Given the description of an element on the screen output the (x, y) to click on. 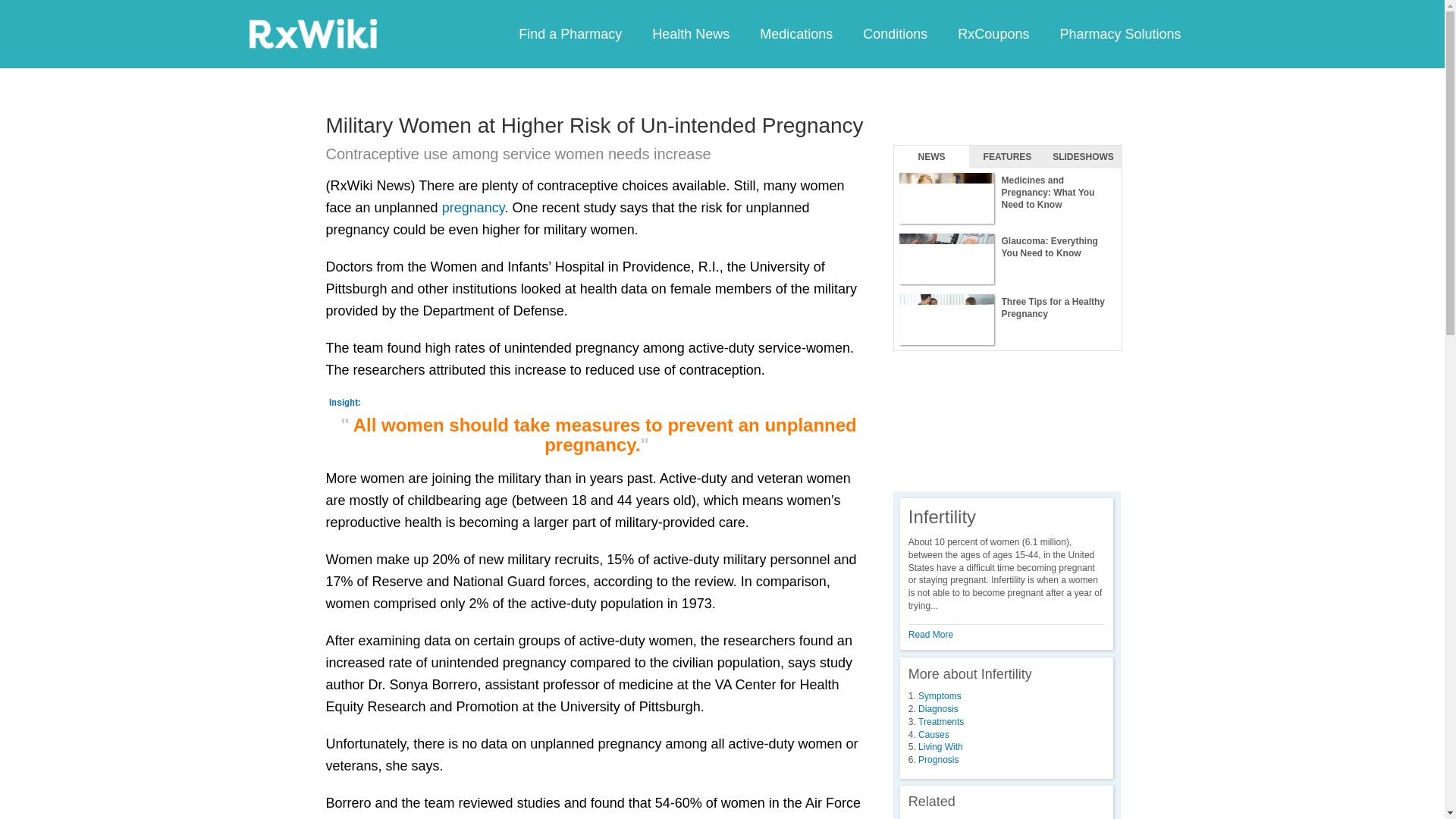
Pharmacy Solutions (1119, 33)
Three Tips for a Healthy Pregnancy (1007, 319)
Conditions (894, 33)
Health News (690, 33)
FEATURES (1007, 156)
Medications (795, 33)
pregnancy (473, 207)
RxWiki (312, 32)
NEWS (931, 156)
Find a Pharmacy (570, 33)
Glaucoma: Everything You Need to Know (1007, 259)
RxCoupons (992, 33)
Medicines and Pregnancy: What You Need to Know (1007, 198)
SLIDESHOWS (1083, 156)
